Given the description of an element on the screen output the (x, y) to click on. 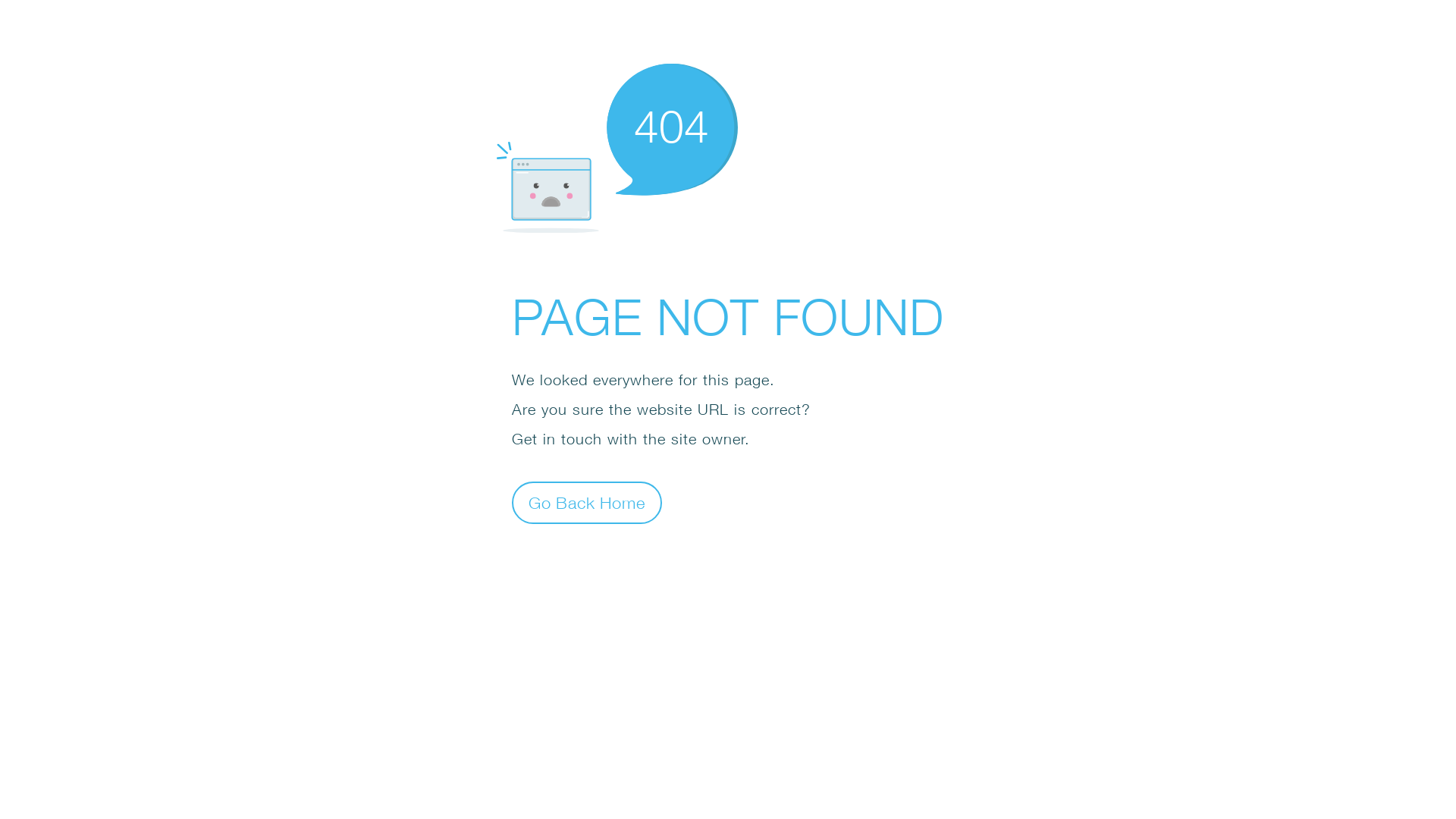
Go Back Home Element type: text (586, 502)
